Given the description of an element on the screen output the (x, y) to click on. 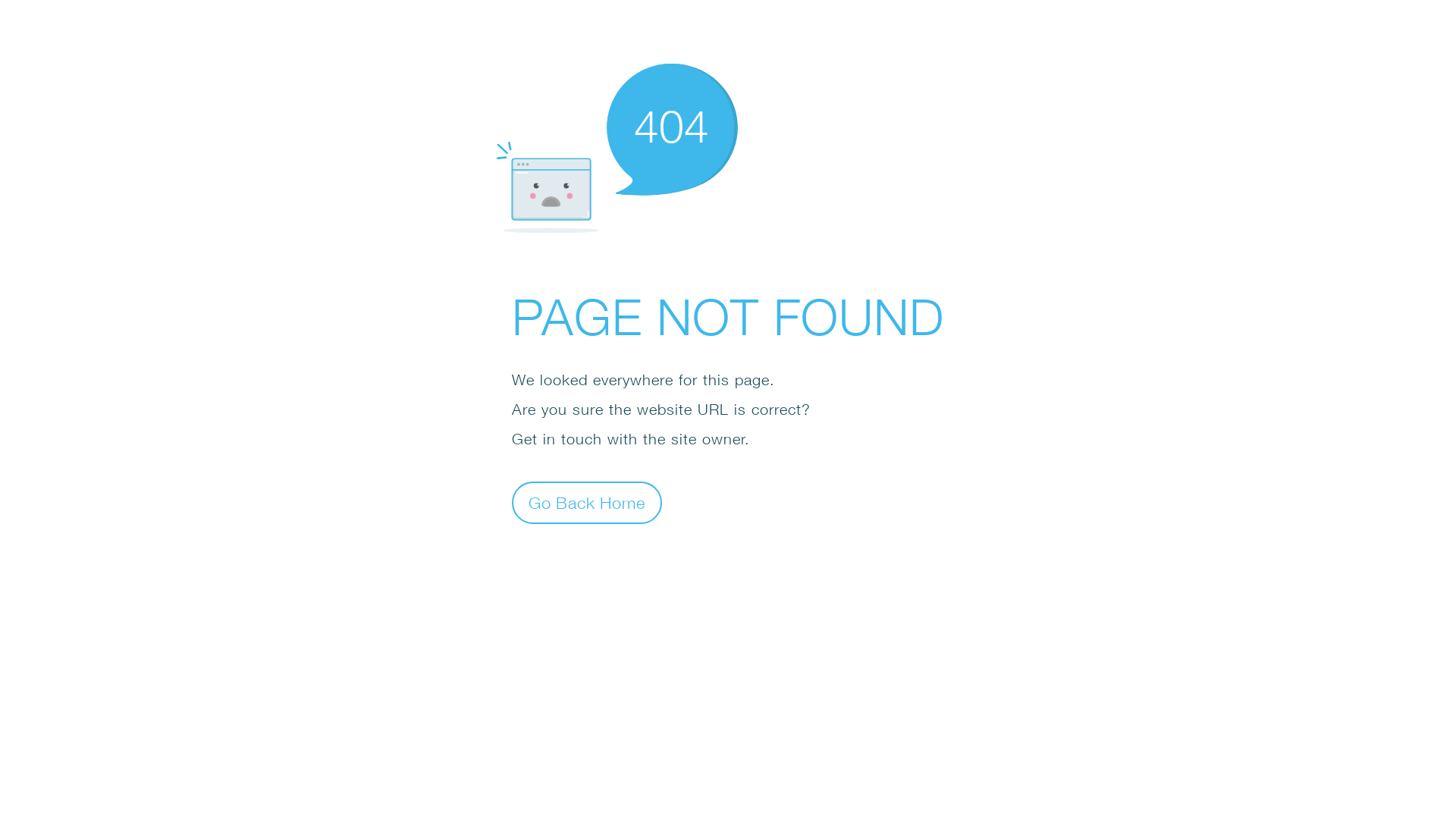
Go Back Home Element type: text (586, 502)
